Given the description of an element on the screen output the (x, y) to click on. 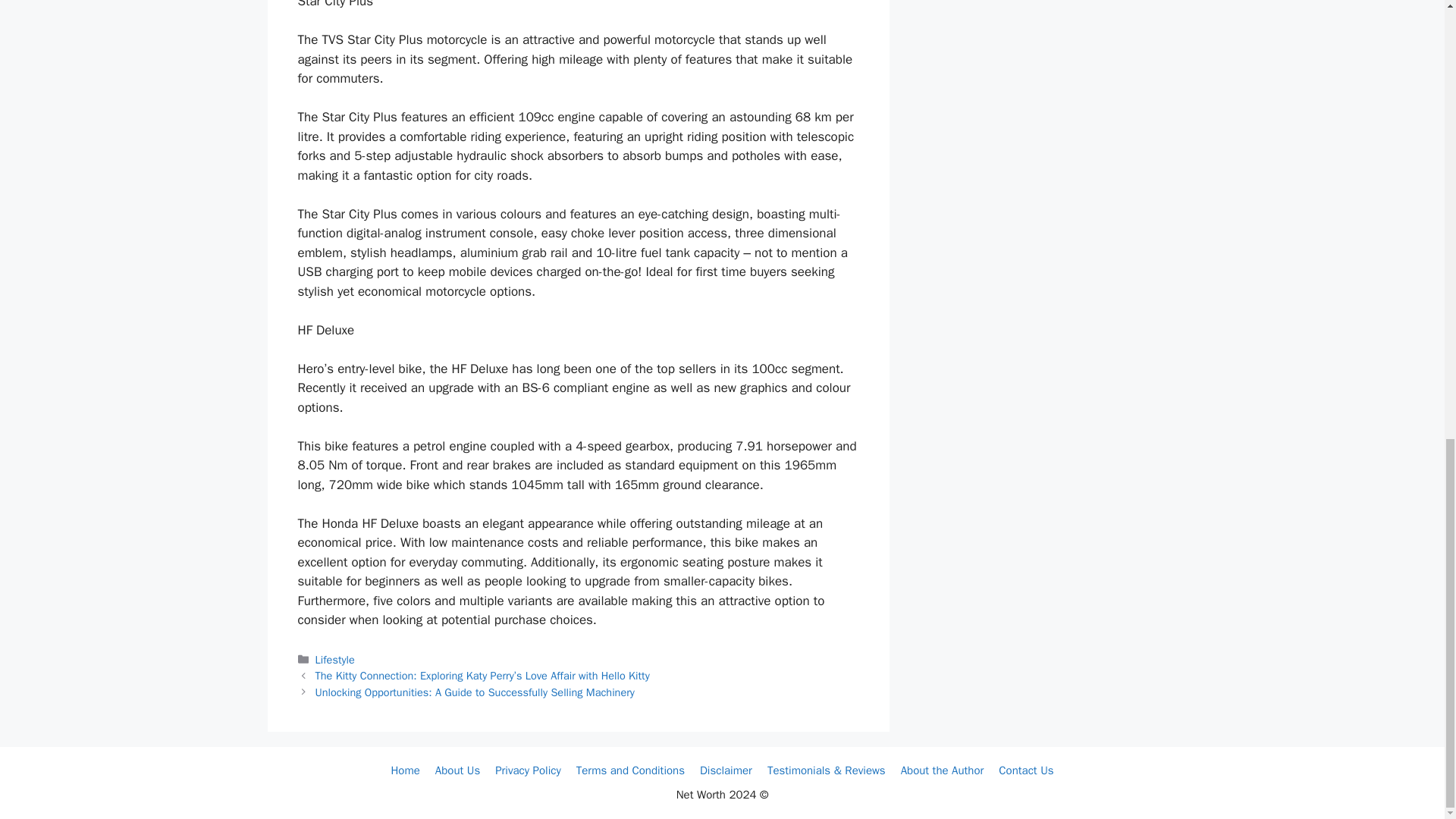
Privacy Policy (527, 770)
About Us (457, 770)
About the Author (942, 770)
Contact Us (1025, 770)
Disclaimer (726, 770)
Terms and Conditions (630, 770)
Home (404, 770)
Scroll back to top (1406, 589)
Lifestyle (335, 659)
